Given the description of an element on the screen output the (x, y) to click on. 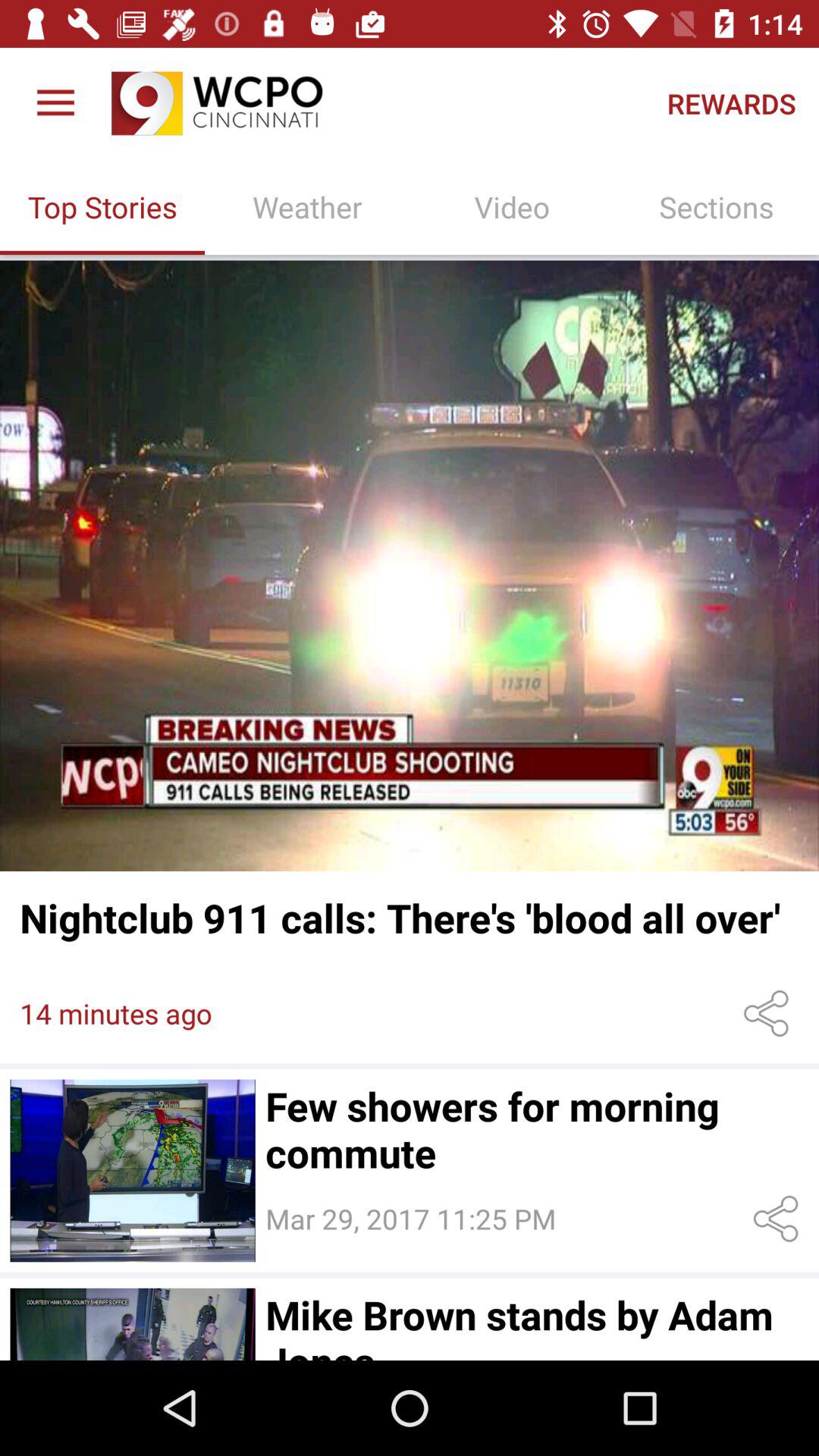
choose item above sections (731, 103)
